Given the description of an element on the screen output the (x, y) to click on. 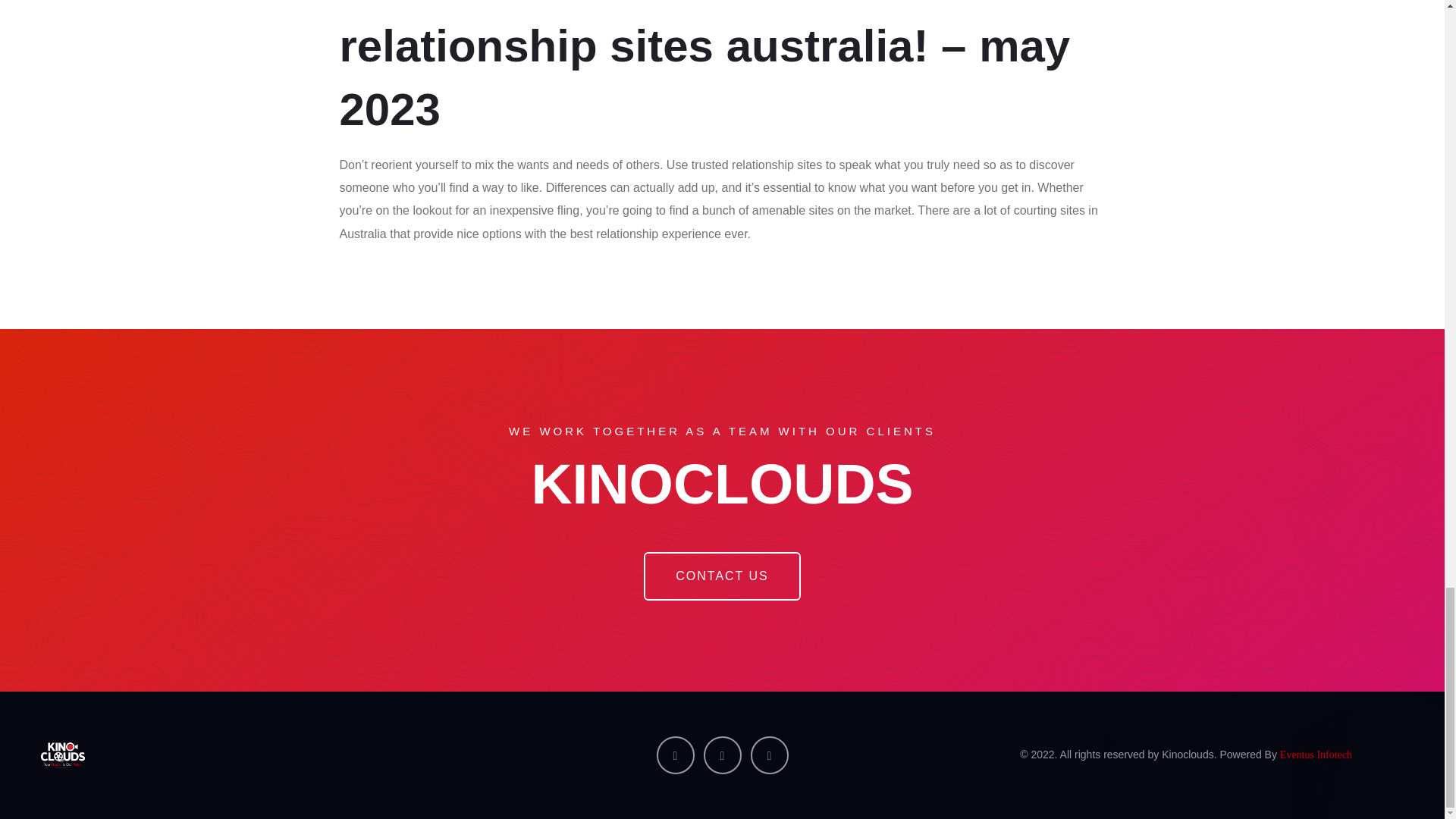
CONTACT US (721, 576)
Kino Clouds (258, 755)
Eventus Infotech (1315, 754)
